Given the description of an element on the screen output the (x, y) to click on. 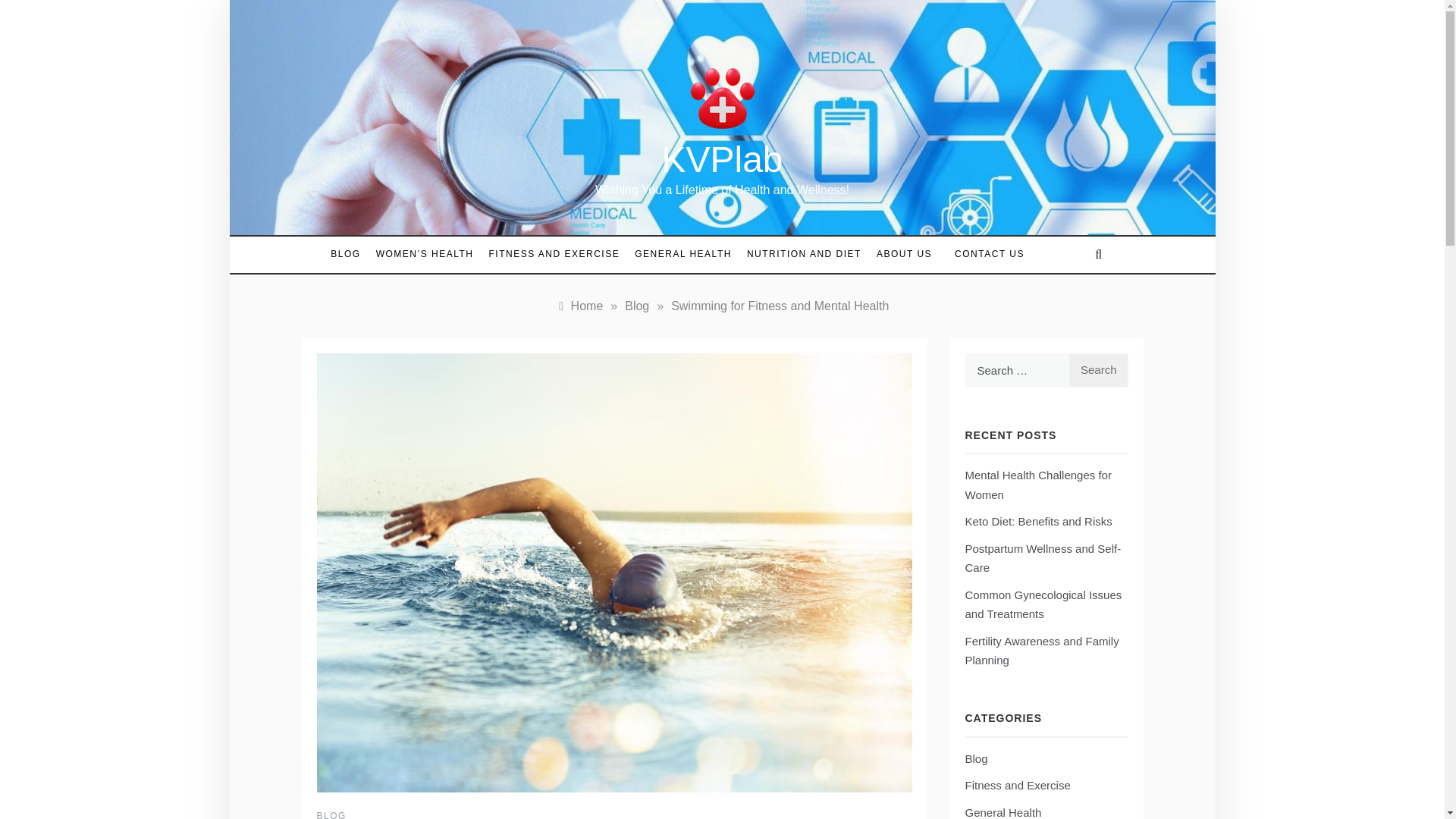
Keto Diet: Benefits and Risks (1037, 521)
ABOUT US (904, 253)
CONTACT US (982, 254)
Mental Health Challenges for Women (1036, 484)
FITNESS AND EXERCISE (553, 253)
Blog (636, 305)
BLOG (349, 253)
Search (1098, 369)
NUTRITION AND DIET (804, 253)
BLOG (331, 814)
